Given the description of an element on the screen output the (x, y) to click on. 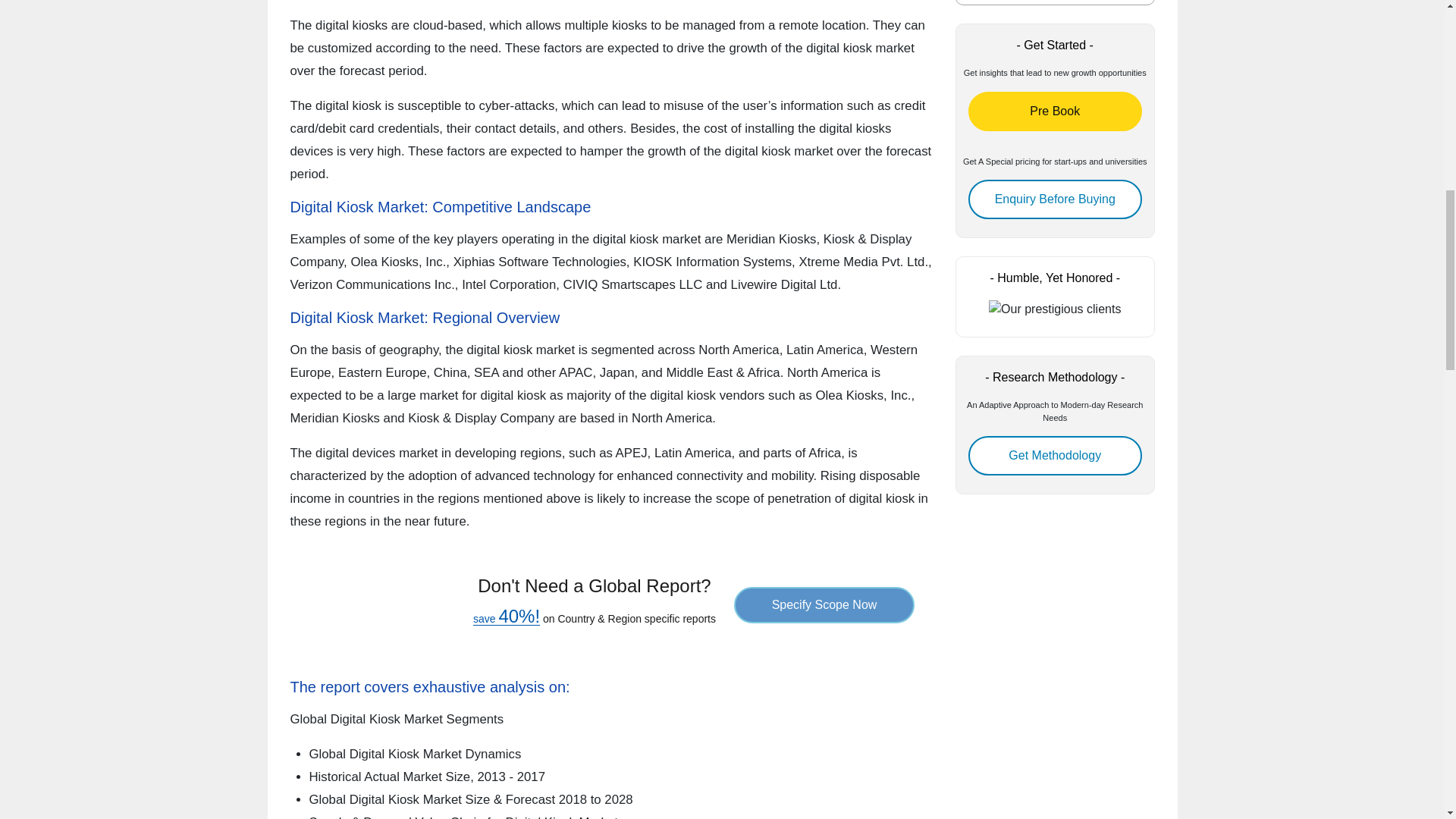
Get Methodology (1054, 455)
Pre Book (1054, 111)
Enquiry Before Buying (1054, 199)
Specify Scope Now (823, 605)
